Given the description of an element on the screen output the (x, y) to click on. 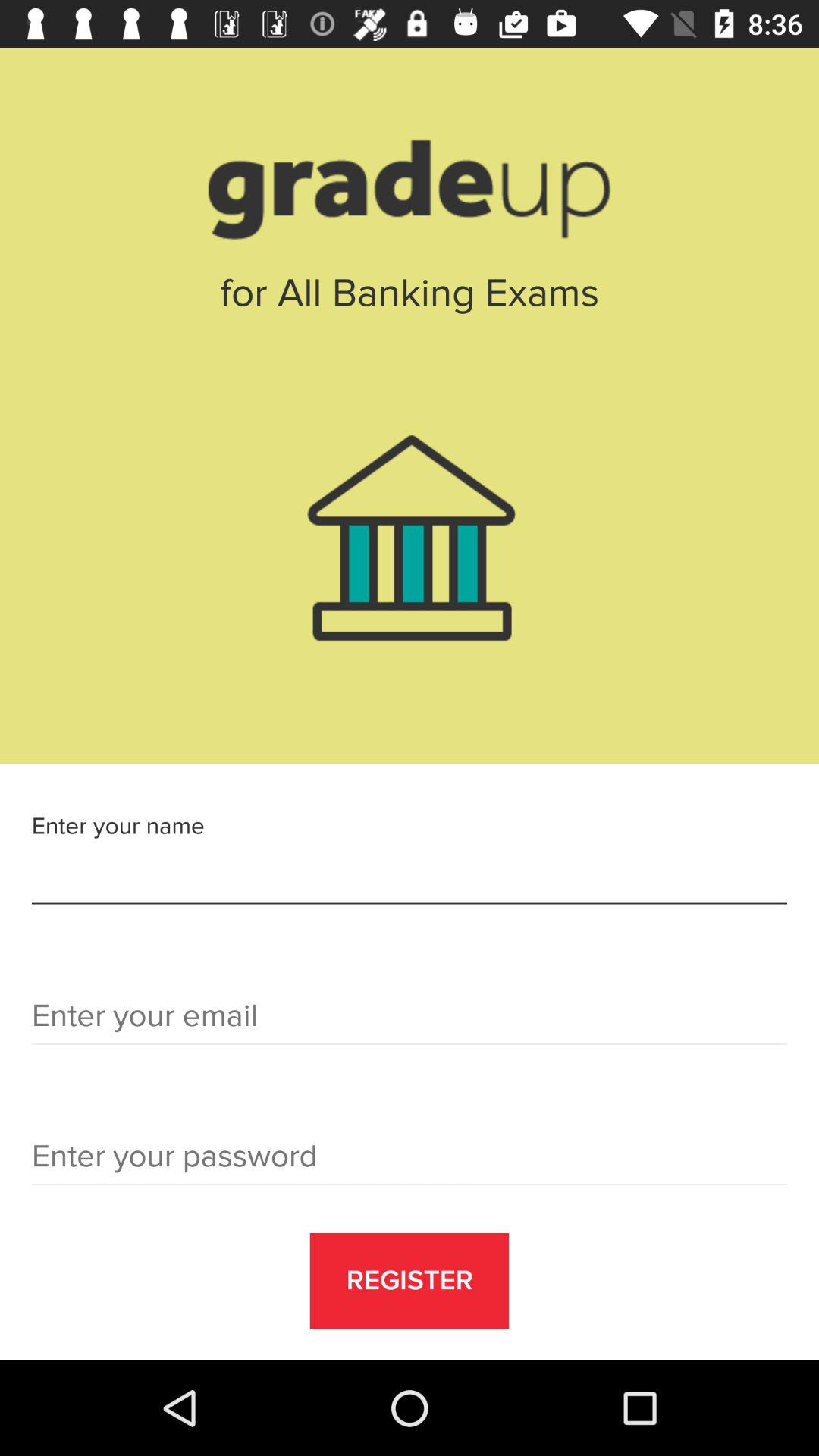
mail id (409, 1020)
